Given the description of an element on the screen output the (x, y) to click on. 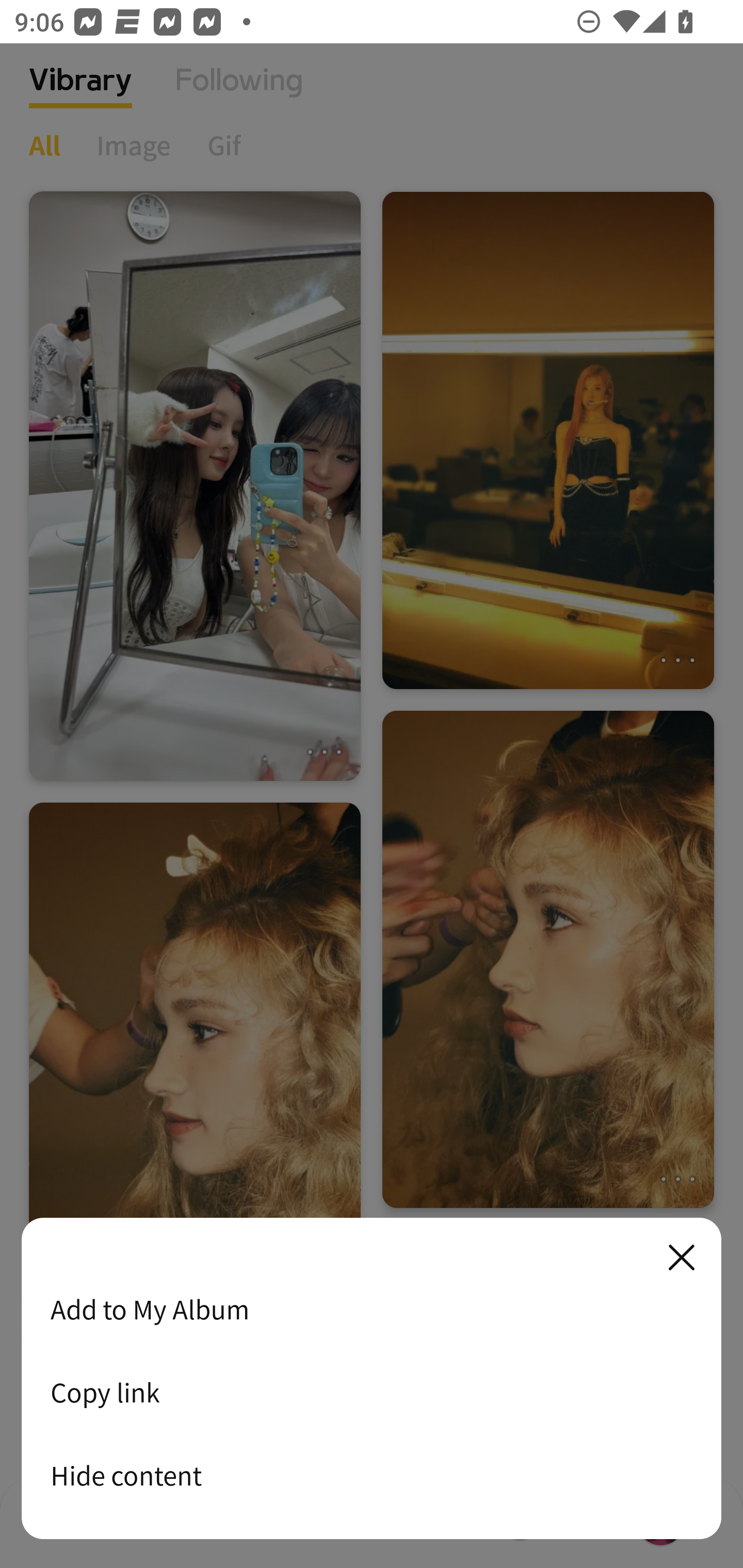
Add to My Album Copy link Hide content (371, 1378)
Add to My Album (371, 1308)
Copy link (371, 1391)
Hide content (371, 1474)
